Given the description of an element on the screen output the (x, y) to click on. 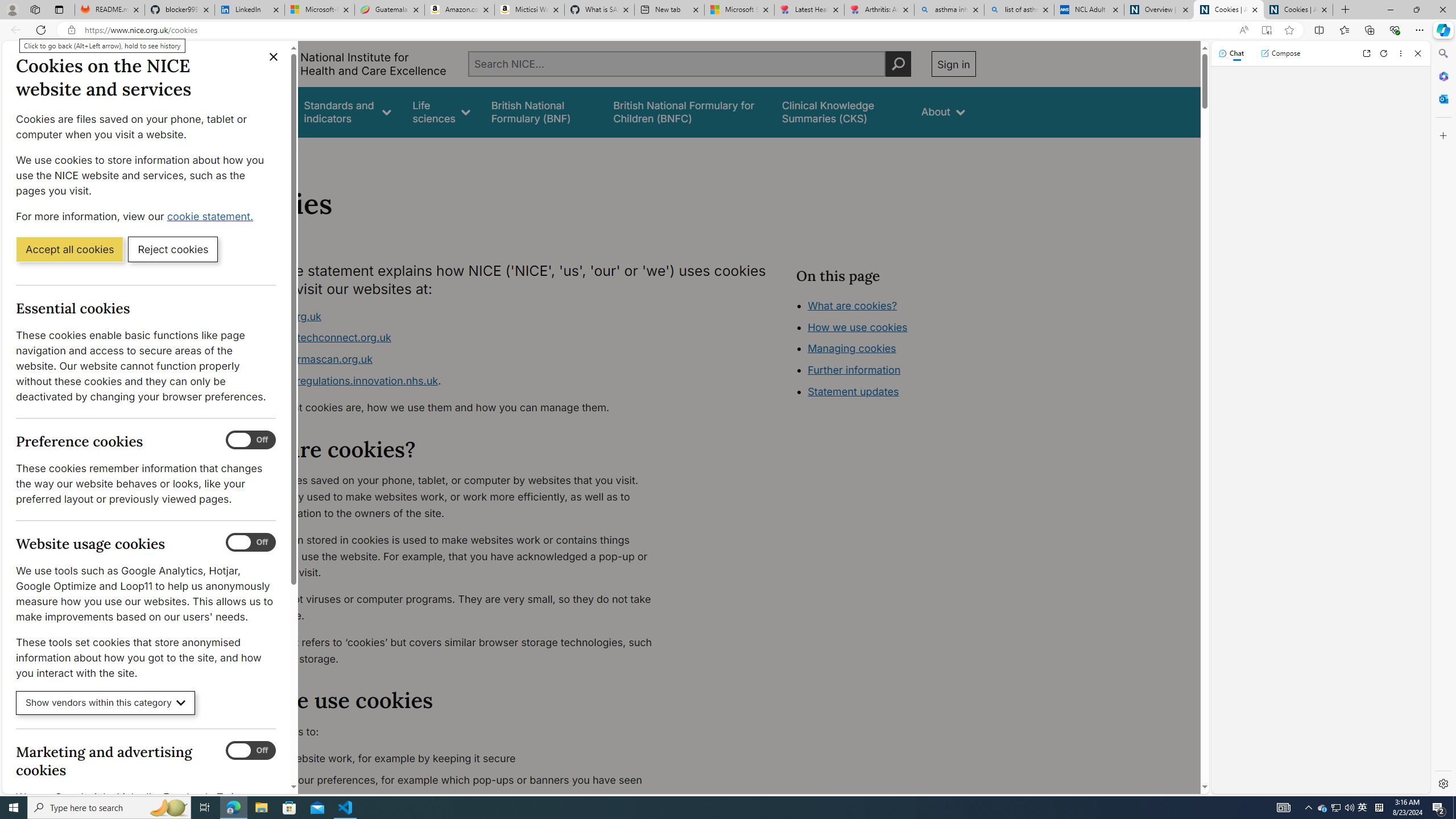
What are cookies? (852, 305)
Perform search (898, 63)
www.ukpharmascan.org.uk (452, 359)
